Given the description of an element on the screen output the (x, y) to click on. 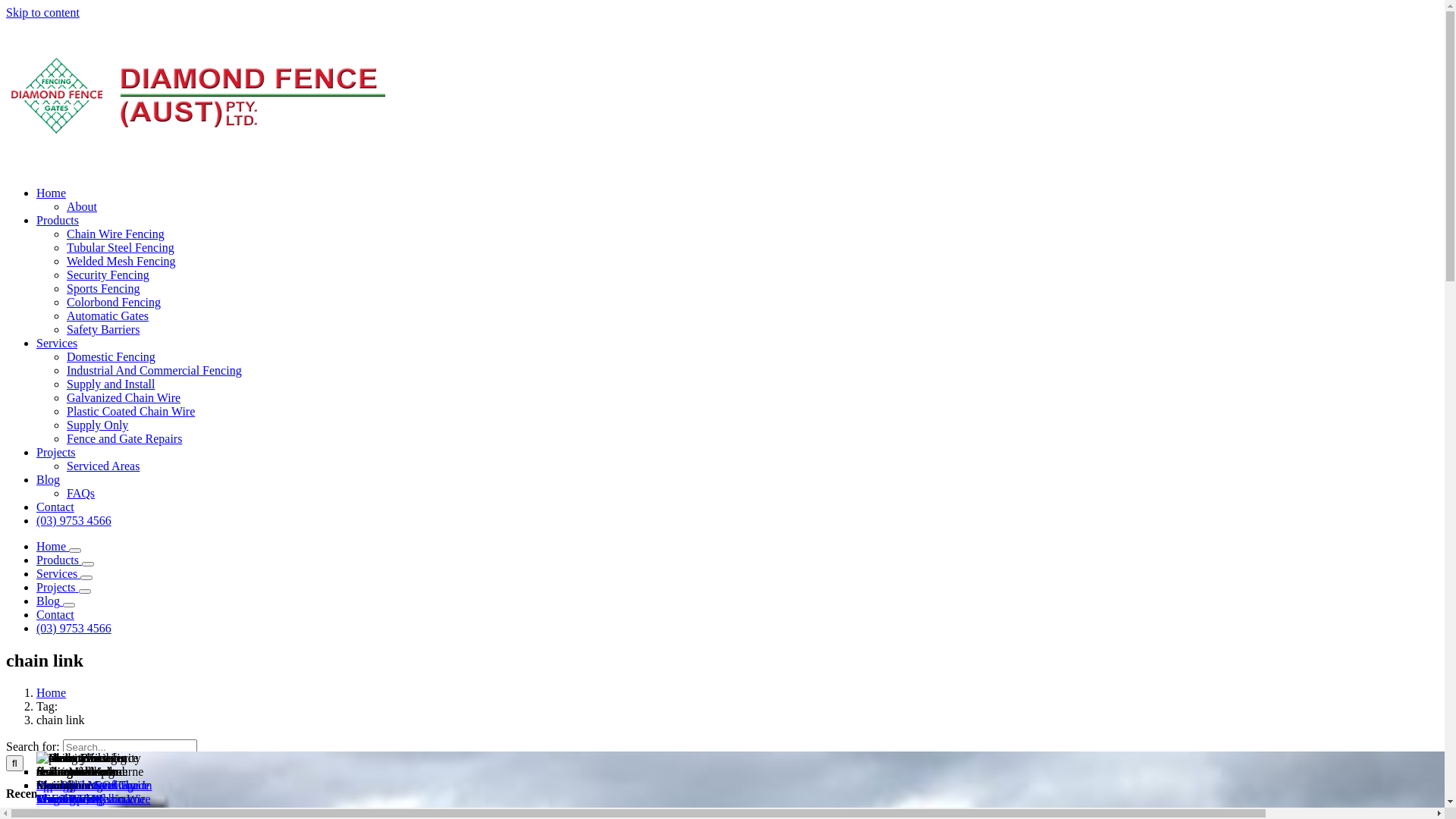
Serviced Areas Element type: text (102, 465)
Skip to content Element type: text (42, 12)
Services Element type: text (56, 342)
Projects Element type: text (55, 451)
Automatic Gates Element type: text (107, 315)
Industrial And Commercial Fencing Element type: text (153, 370)
Supply Only Element type: text (97, 424)
Products Element type: text (57, 219)
Supply and Install Element type: text (110, 383)
Maintenance Of Chain Wire Fencing Element type: text (91, 791)
Services Element type: text (58, 573)
Contact Element type: text (55, 614)
Home Element type: text (50, 692)
Pipe Protection Cage In Truganina, Melbourne Element type: text (93, 791)
Tubular Steel Fencing Element type: text (120, 247)
(03) 9753 4566 Element type: text (73, 520)
Blog Element type: text (49, 600)
Security Fencing Element type: text (107, 274)
Home Element type: text (50, 192)
Contact Element type: text (55, 506)
Products Element type: text (58, 559)
Plastic Coated Chain Wire Element type: text (130, 410)
Chain Wire Fencing Element type: text (115, 233)
Sports Fencing Element type: text (102, 288)
Fence and Gate Repairs Element type: text (124, 438)
Blog Element type: text (47, 479)
Colorbond Fencing Element type: text (113, 301)
Galvanized Chain Wire Element type: text (123, 397)
Safety Barriers Element type: text (102, 329)
FAQs Element type: text (80, 492)
Projects Element type: text (57, 586)
Home Element type: text (52, 545)
Domestic Fencing Element type: text (110, 356)
Springtime Steel Fence Maintenance Element type: text (92, 791)
About Element type: text (81, 206)
Welded Mesh Fencing Element type: text (120, 260)
(03) 9753 4566 Element type: text (73, 627)
